Given the description of an element on the screen output the (x, y) to click on. 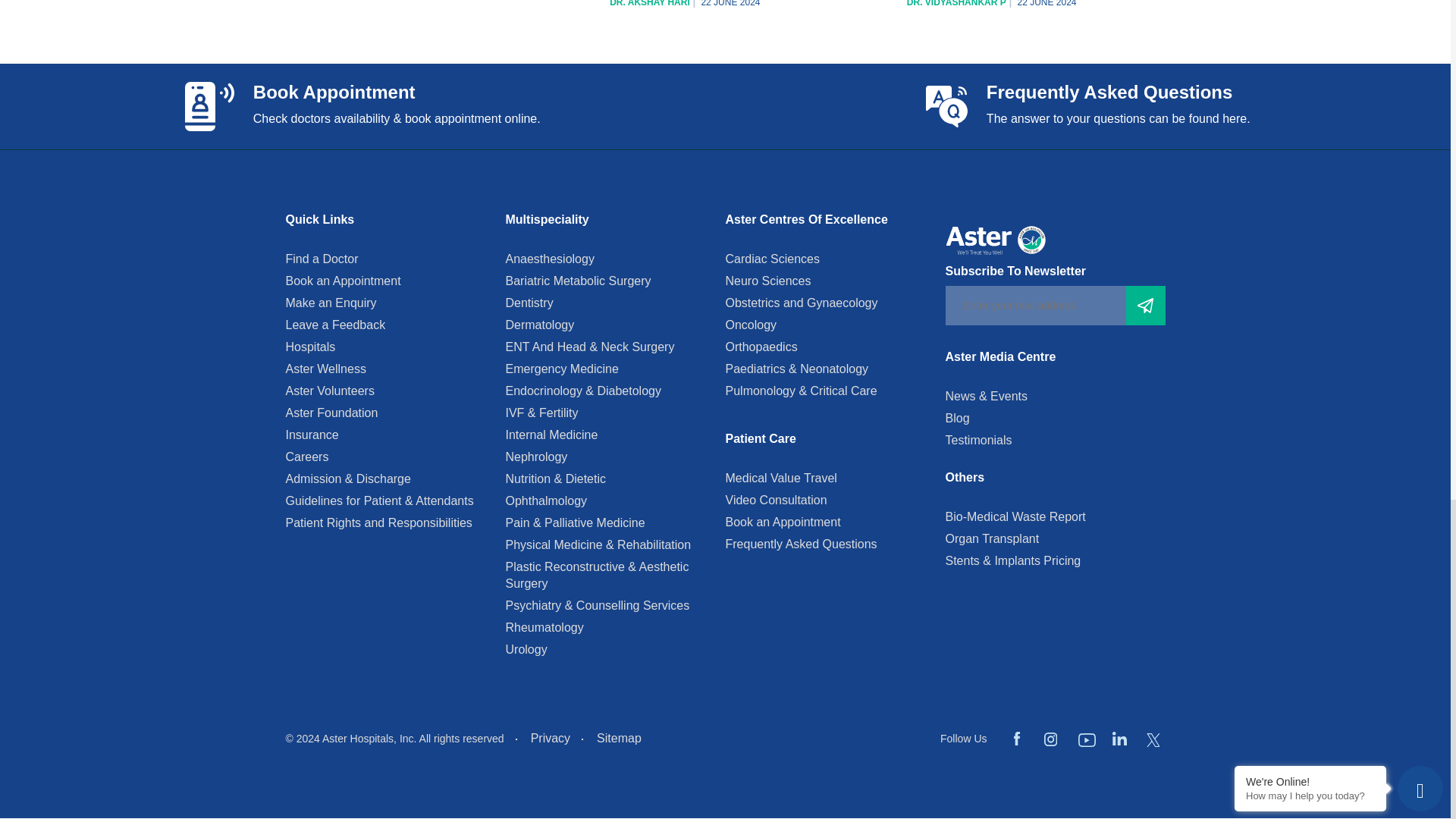
Submit (1144, 305)
